Given the description of an element on the screen output the (x, y) to click on. 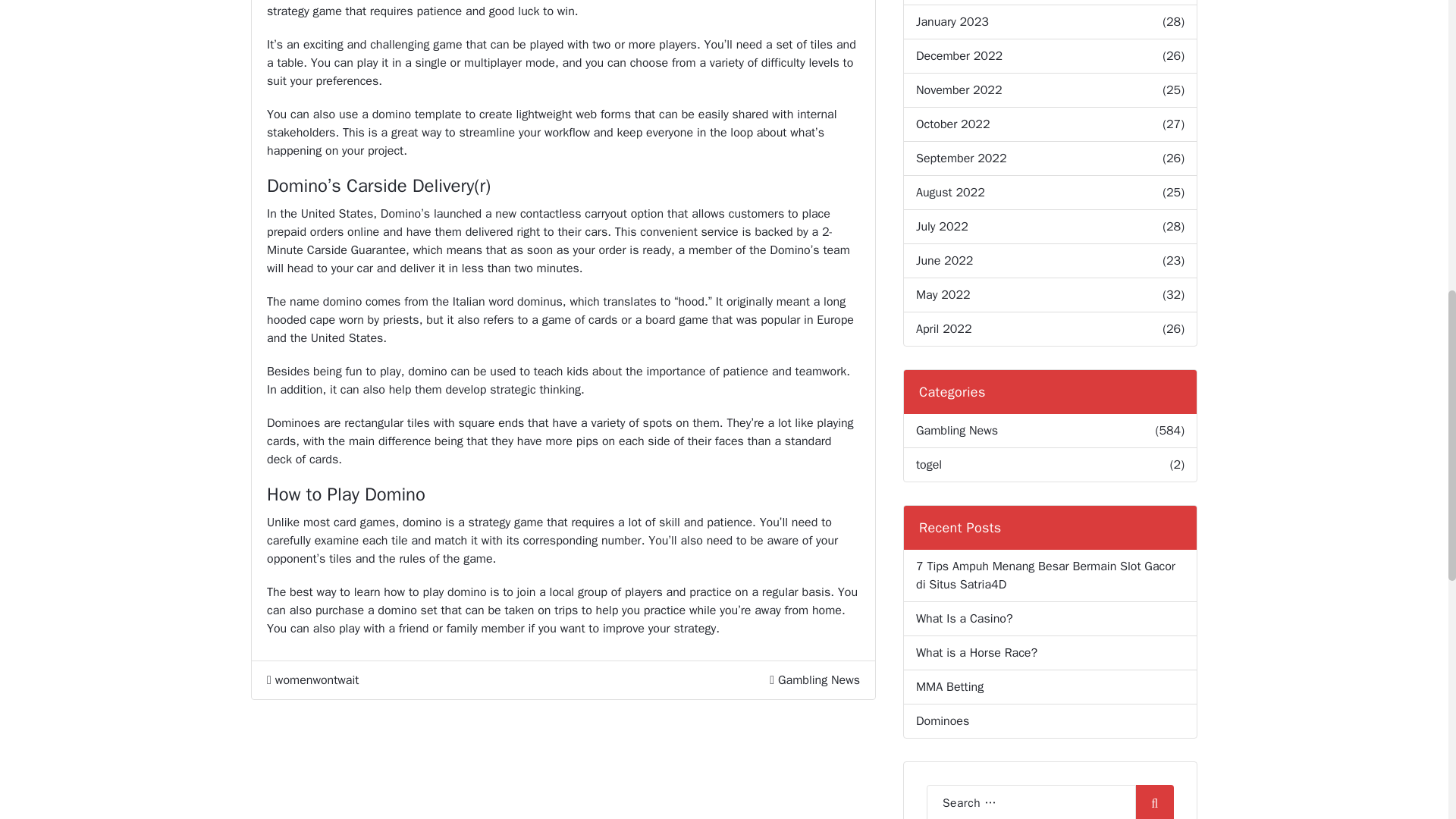
Gambling News (956, 430)
April 2022 (943, 329)
May 2022 (943, 294)
January 2023 (951, 22)
togel (928, 464)
August 2022 (950, 192)
womenwontwait (312, 679)
October 2022 (952, 124)
July 2022 (941, 226)
September 2022 (961, 158)
Gambling News (818, 679)
December 2022 (959, 55)
womenwontwait (312, 679)
November 2022 (958, 90)
